Given the description of an element on the screen output the (x, y) to click on. 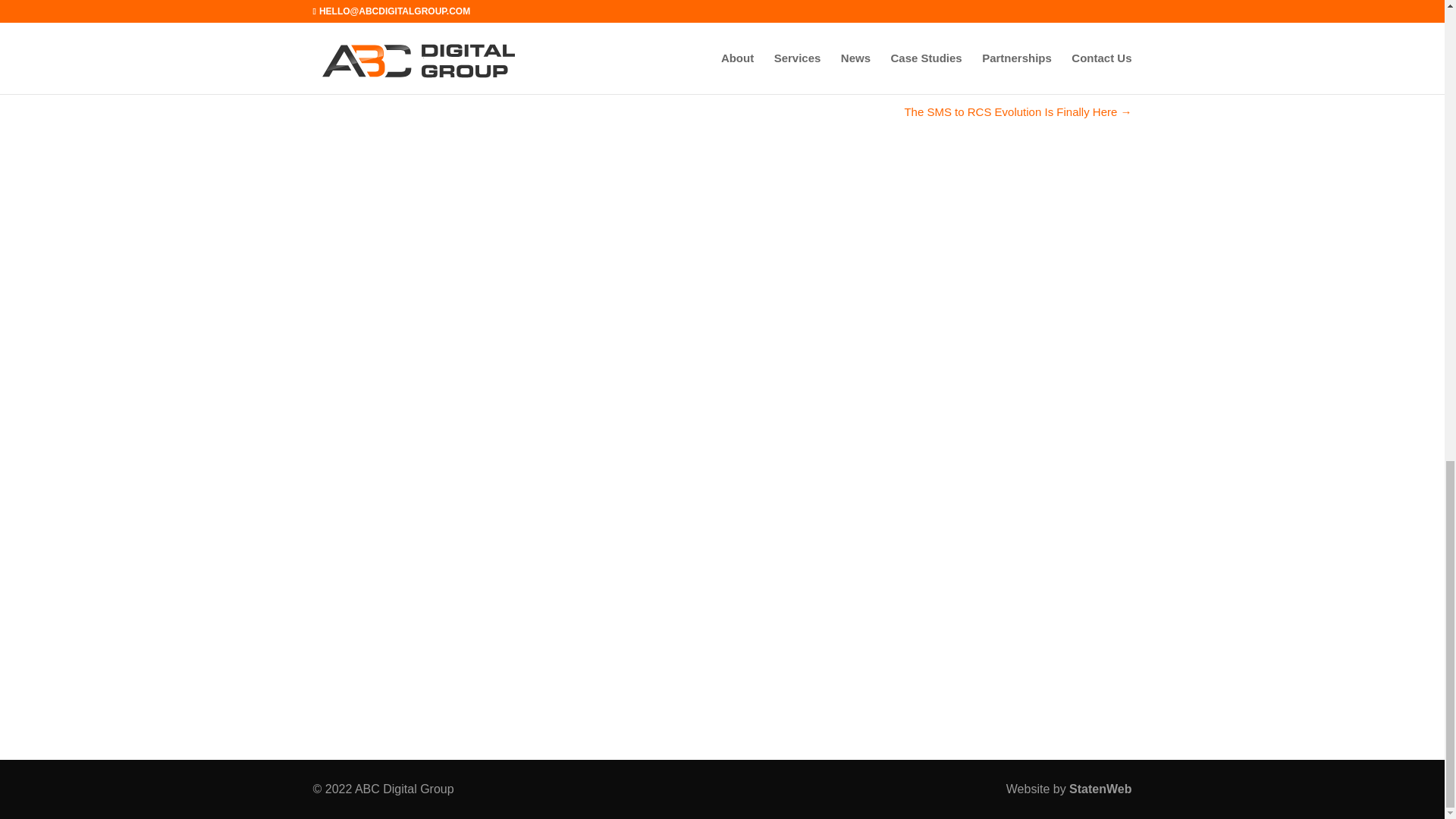
Follow on Twitter (706, 38)
StatenWeb (1099, 788)
StatenWeb (1099, 788)
Follow on LinkedIn (748, 38)
